Given the description of an element on the screen output the (x, y) to click on. 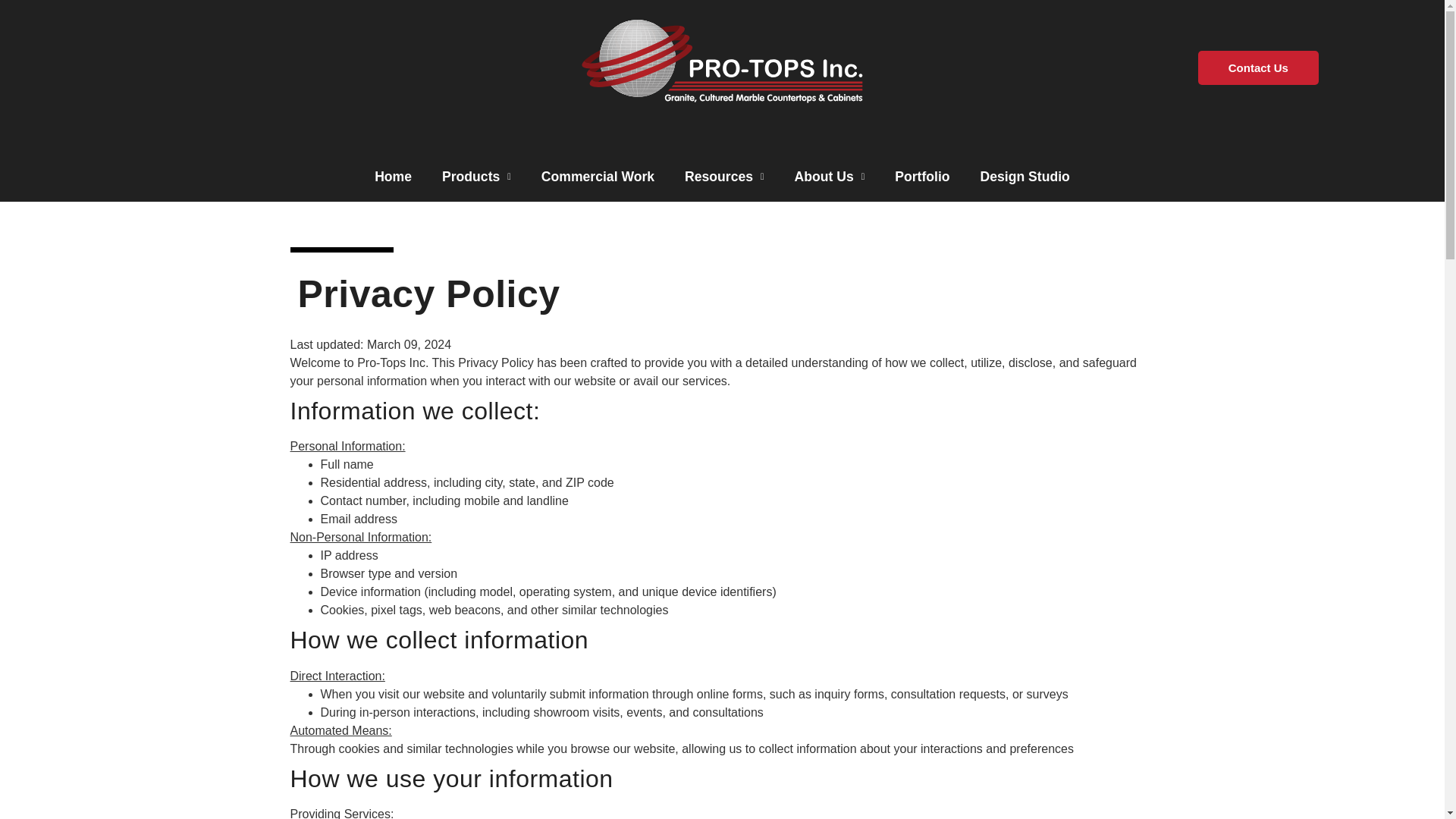
Resources (723, 176)
Contact Us (1258, 67)
Products (475, 176)
Design Studio (1024, 176)
Home (392, 176)
Portfolio (921, 176)
About Us (829, 176)
Commercial Work (597, 176)
